Given the description of an element on the screen output the (x, y) to click on. 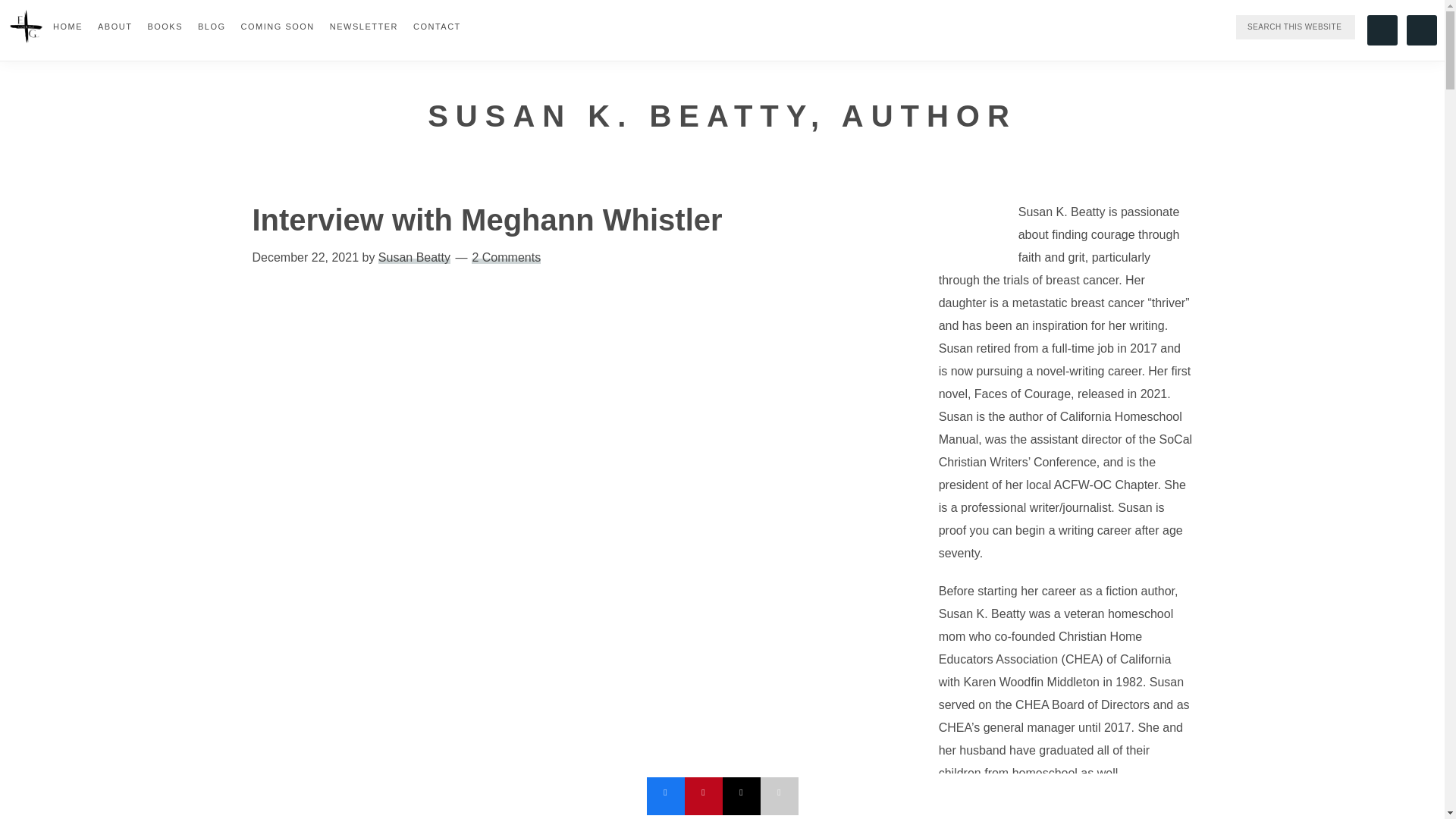
COMING SOON (276, 26)
HOME (67, 26)
2 Comments (505, 256)
BOOKS (164, 26)
Susan Beatty (413, 256)
ABOUT (114, 26)
